Given the description of an element on the screen output the (x, y) to click on. 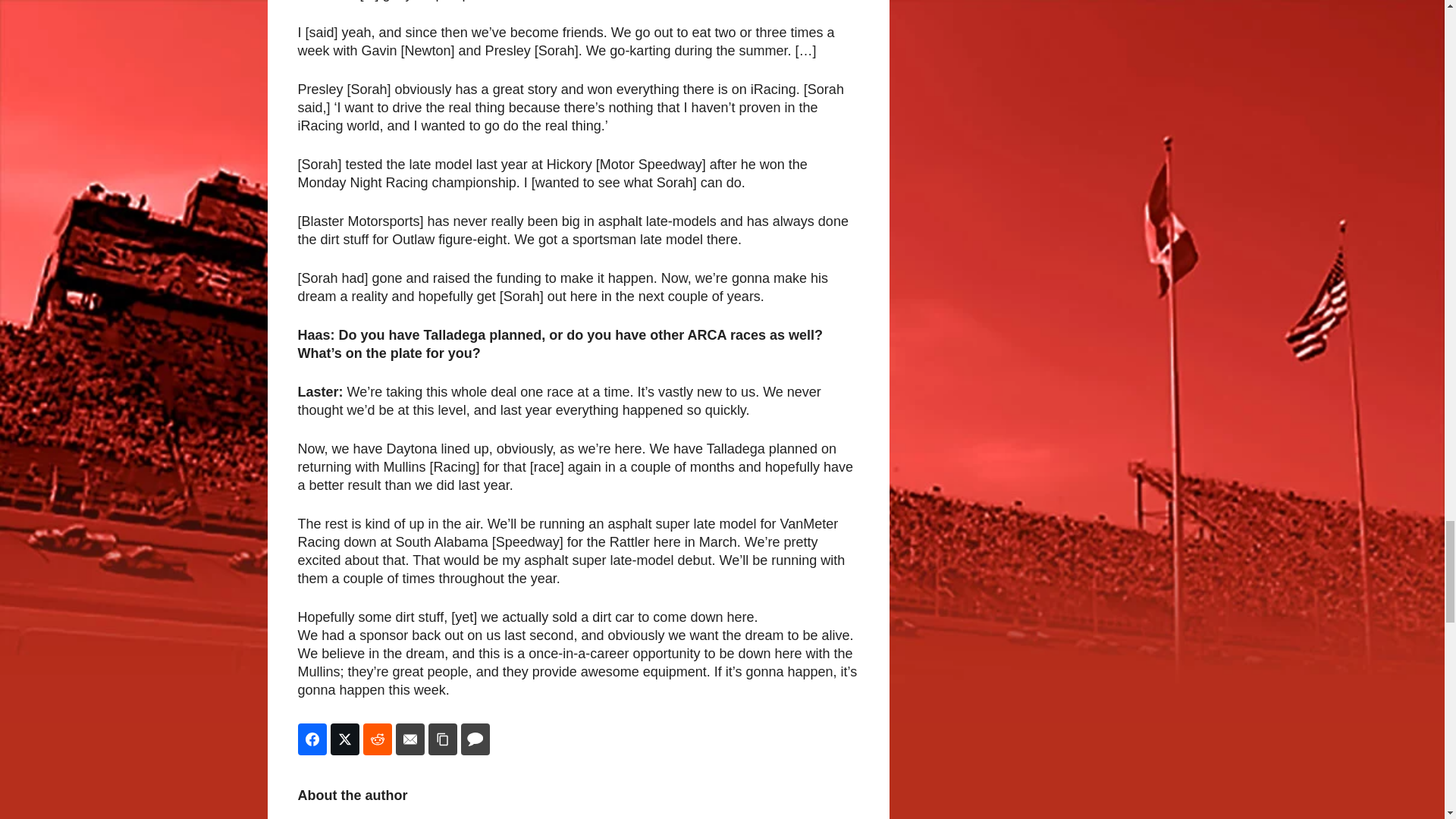
Share on Comments (475, 739)
Share on Reddit (376, 739)
Share on Copy Link (442, 739)
Share on Twitter (344, 739)
Share on Email (410, 739)
Share on Facebook (311, 739)
